Given the description of an element on the screen output the (x, y) to click on. 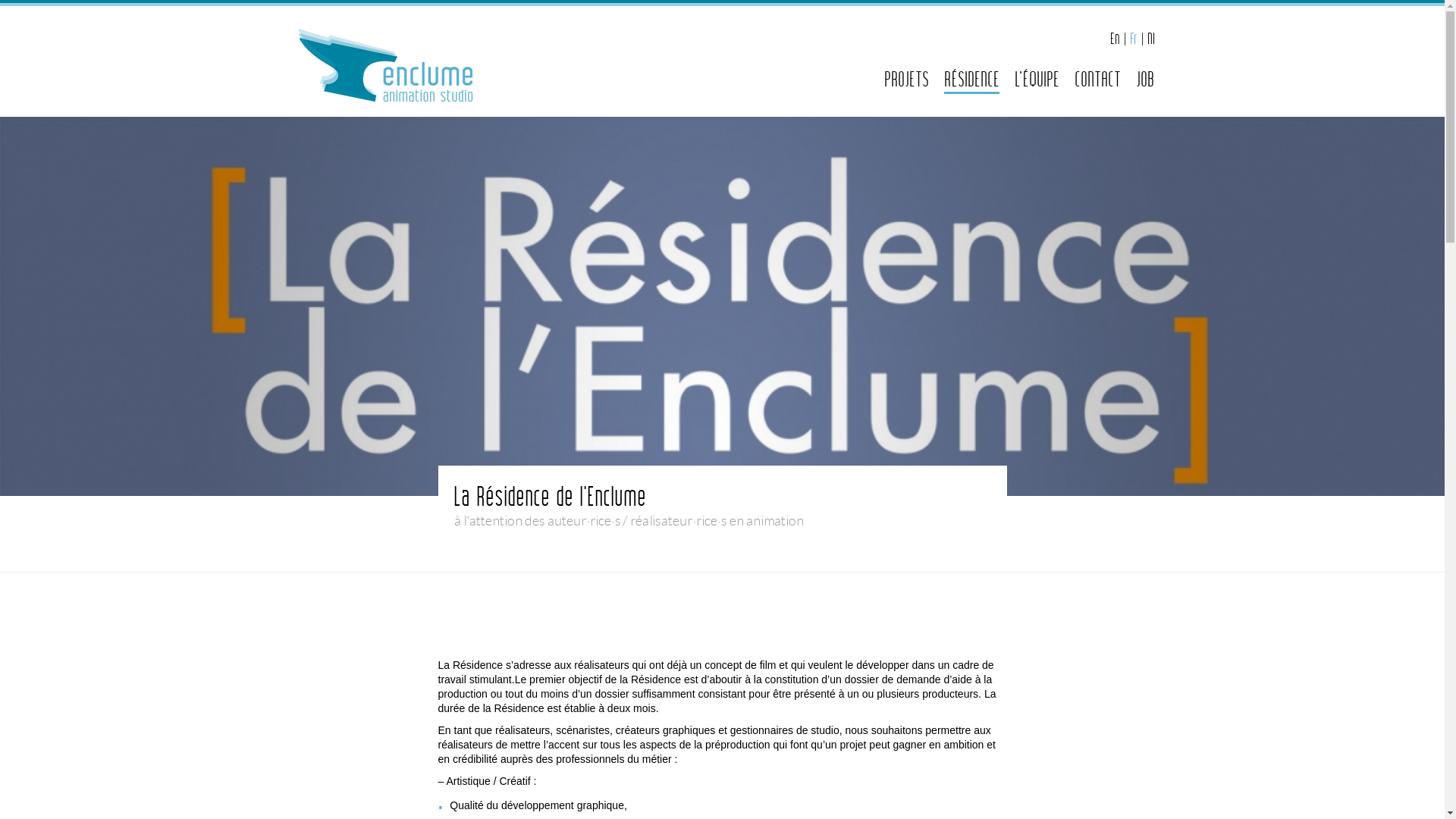
CONTACT Element type: text (1096, 75)
PROJETS Element type: text (906, 75)
En Element type: text (1115, 38)
JOB Element type: text (1144, 75)
Nl Element type: text (1150, 38)
